Given the description of an element on the screen output the (x, y) to click on. 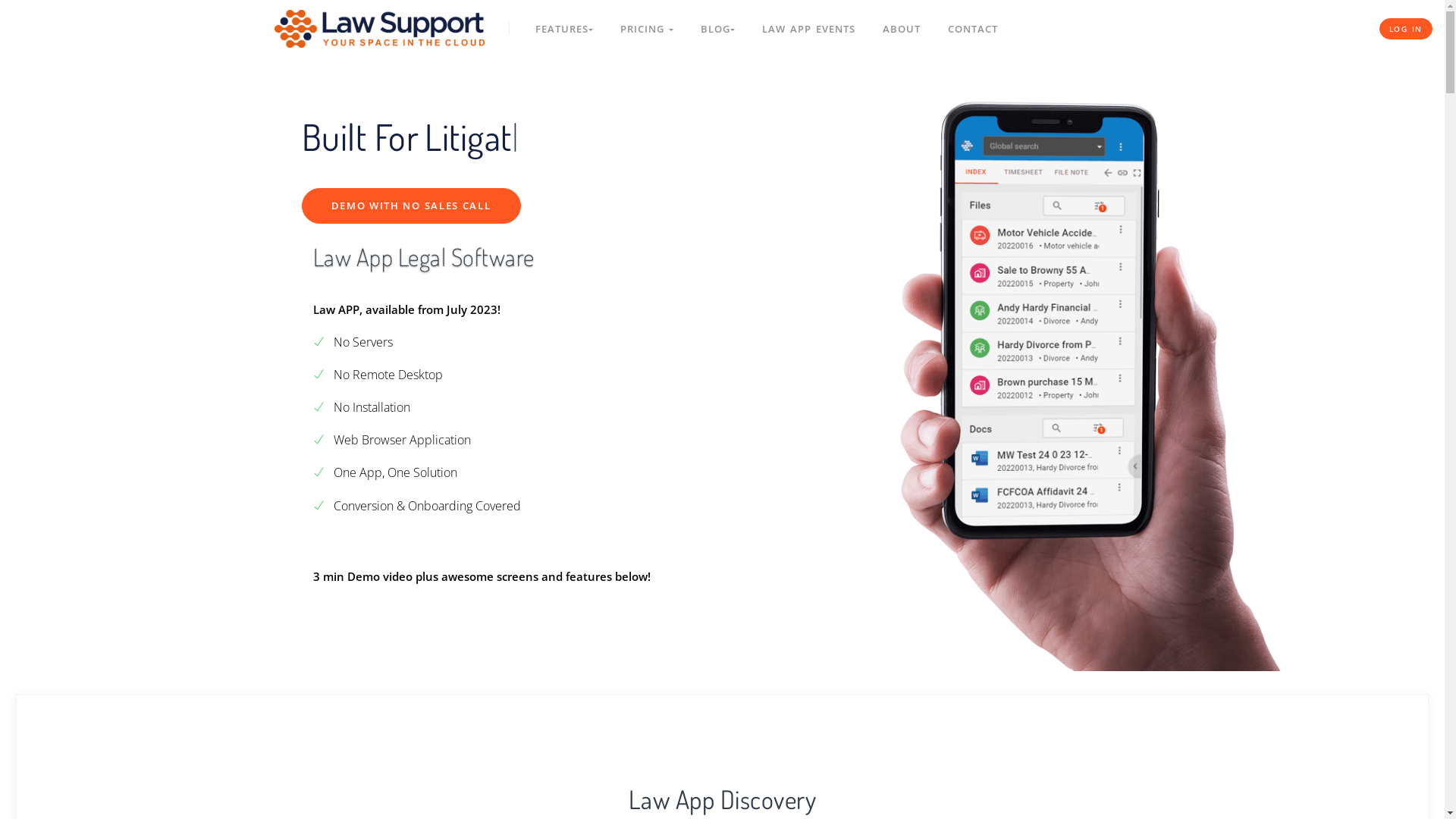
DEMO WITH NO SALES CALL Element type: text (410, 205)
LAW APP EVENTS Element type: text (808, 28)
FEATURES Element type: text (563, 28)
PRICING Element type: text (646, 28)
ABOUT Element type: text (901, 28)
LOG IN Element type: text (1405, 28)
BLOG Element type: text (717, 28)
CONTACT Element type: text (972, 28)
